Given the description of an element on the screen output the (x, y) to click on. 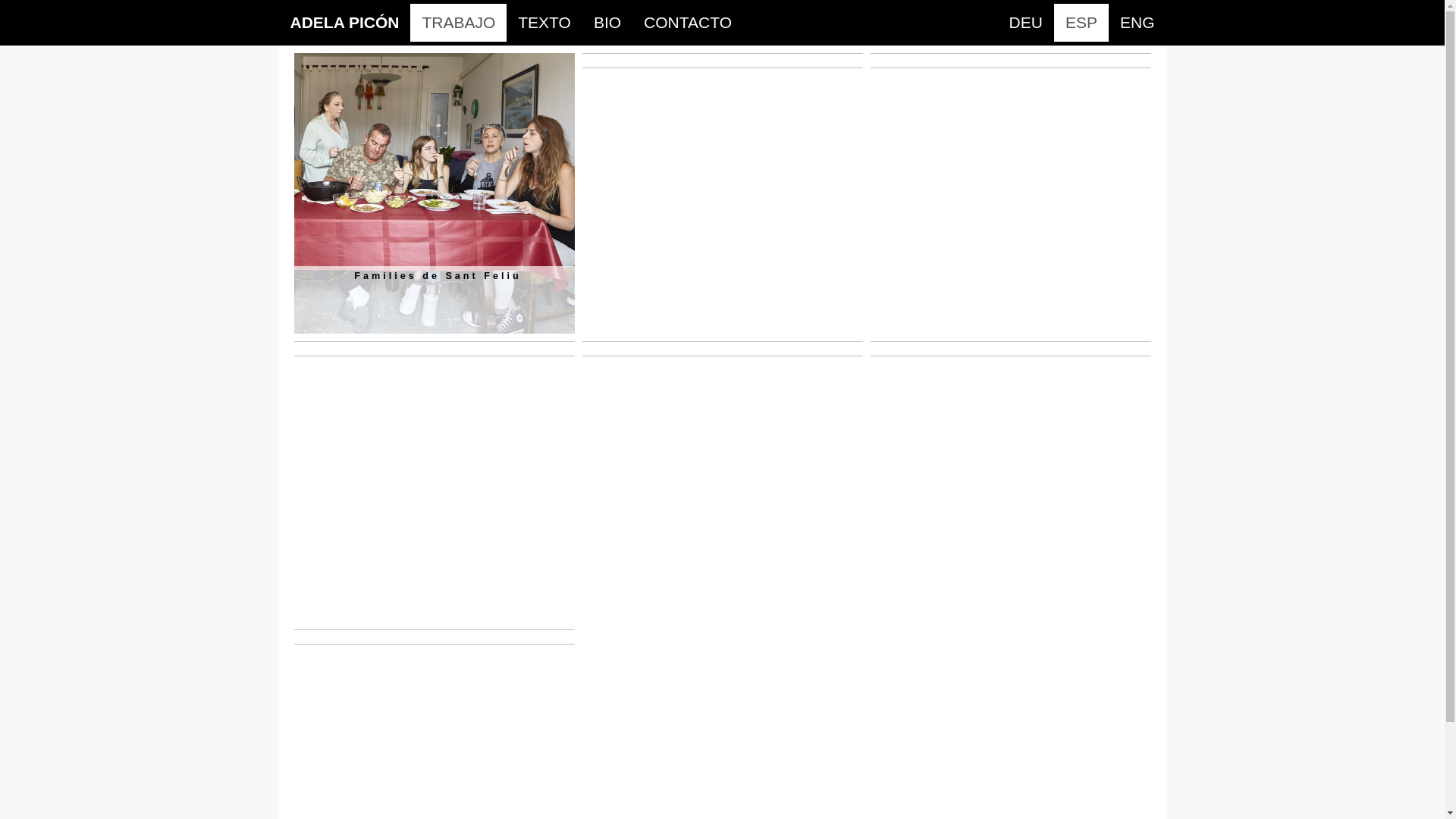
TRABAJO Element type: text (458, 22)
DEU Element type: text (1025, 22)
CONTACTO Element type: text (687, 22)
TEXTO Element type: text (544, 22)
ESP Element type: text (1081, 22)
Families de Sant Feliu Element type: text (434, 193)
BIO Element type: text (607, 22)
ENG Element type: text (1137, 22)
